Given the description of an element on the screen output the (x, y) to click on. 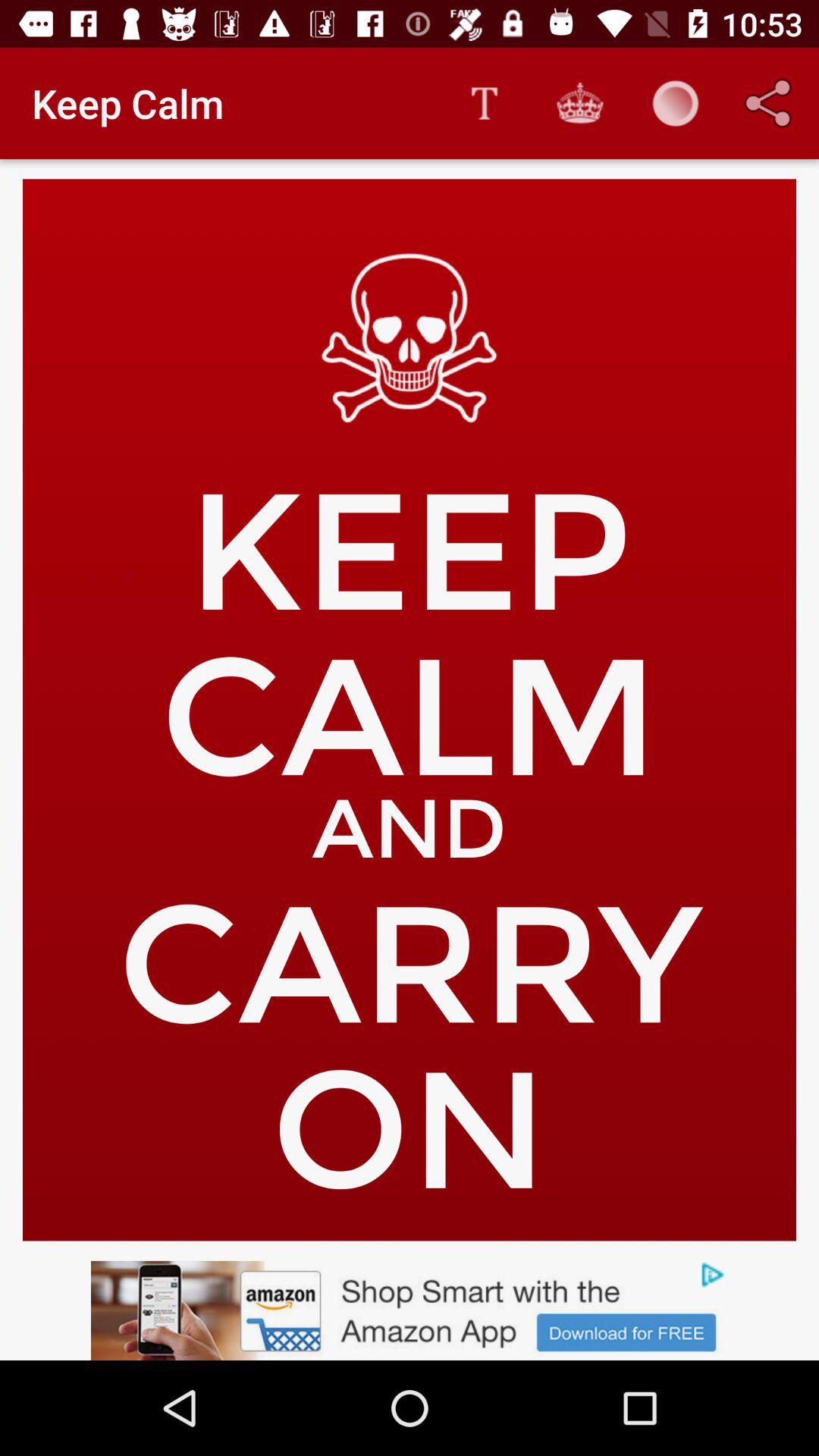
go to amazon app download page (409, 1310)
